Given the description of an element on the screen output the (x, y) to click on. 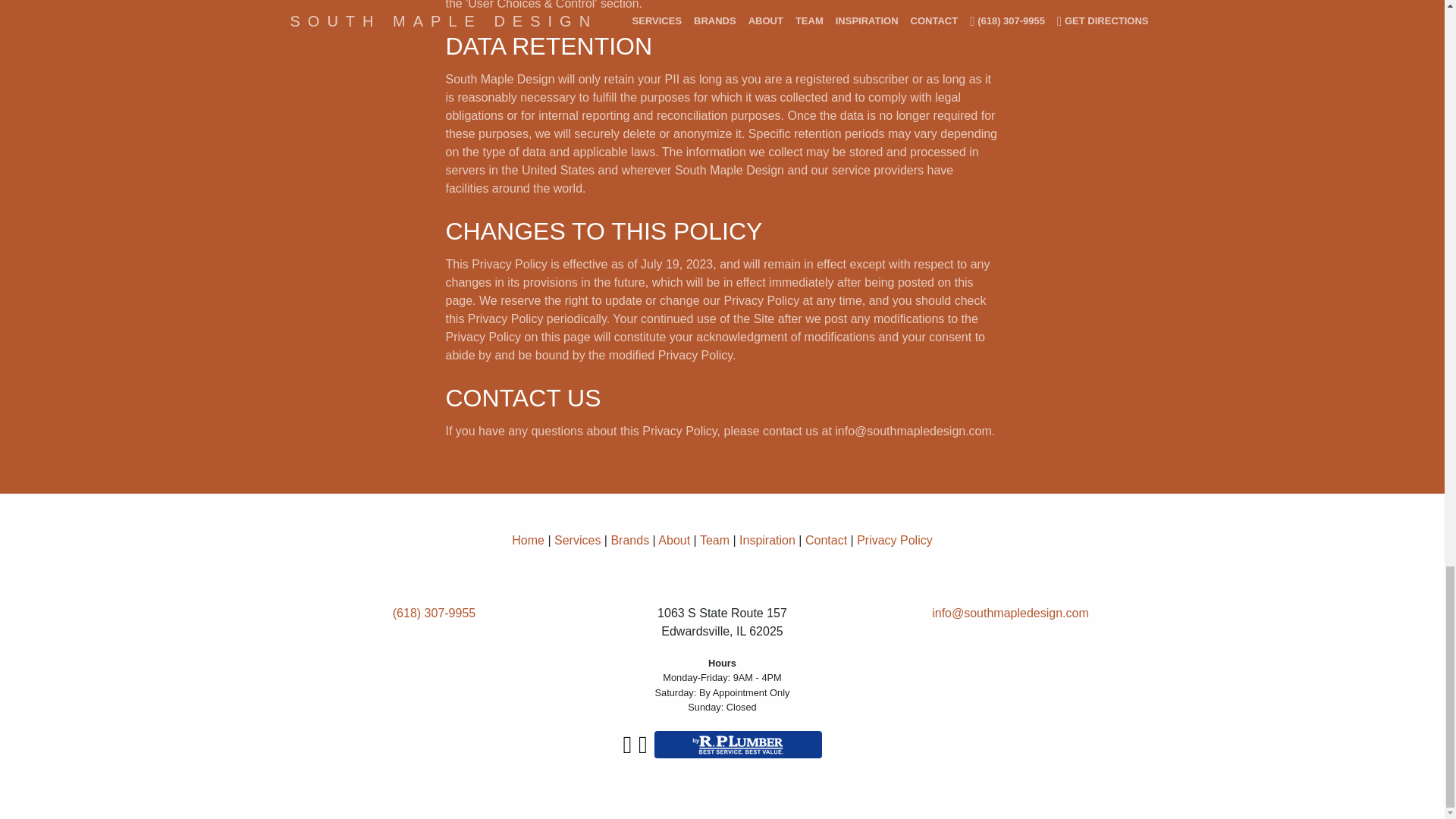
About (674, 540)
Team (714, 540)
Inspiration (766, 540)
Services (576, 540)
Contact (826, 540)
Privacy Policy (895, 540)
Brands (629, 540)
Home (528, 540)
